Given the description of an element on the screen output the (x, y) to click on. 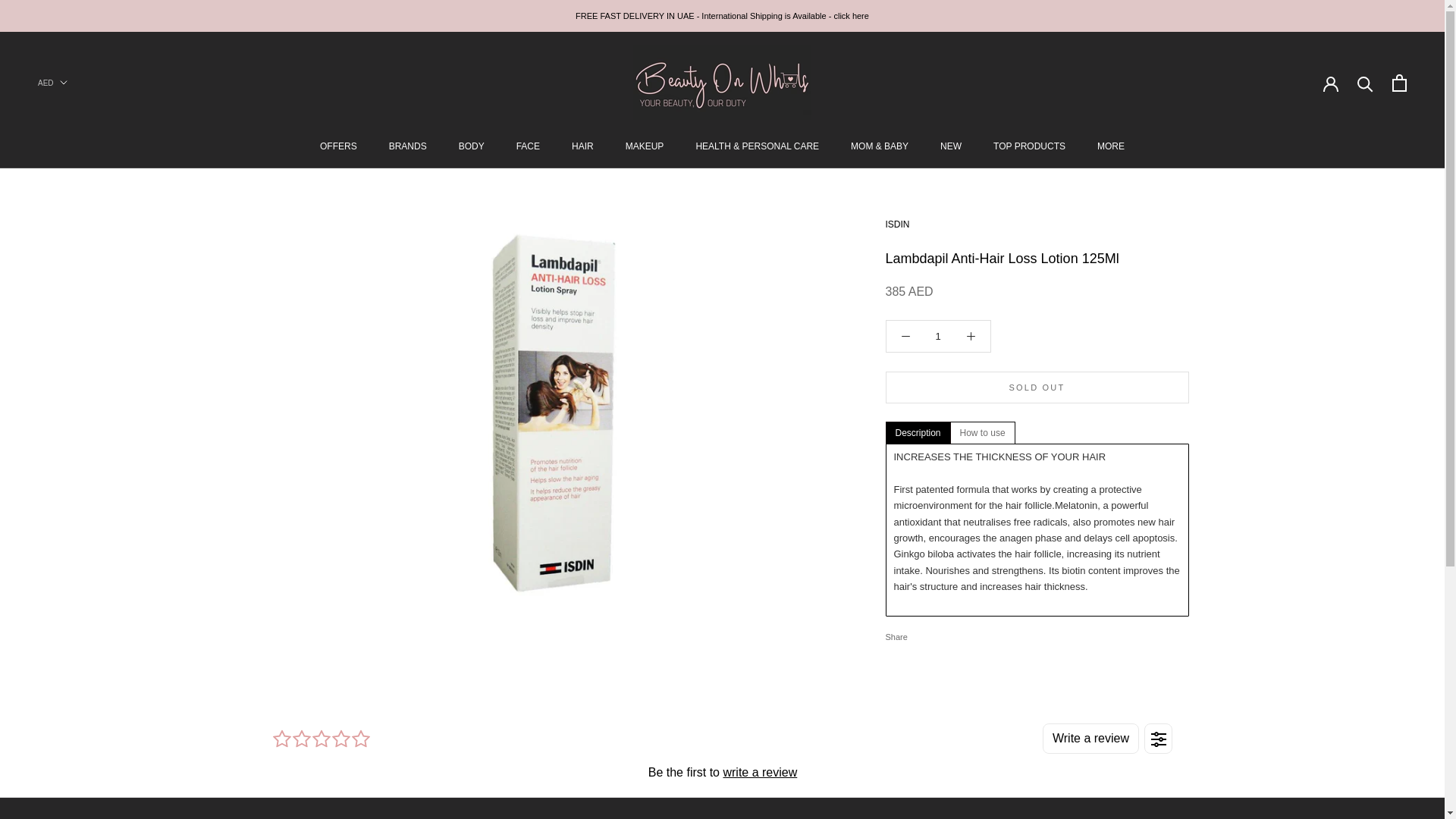
Product reviews widget (721, 752)
1 (938, 336)
Currency selector (51, 82)
